Given the description of an element on the screen output the (x, y) to click on. 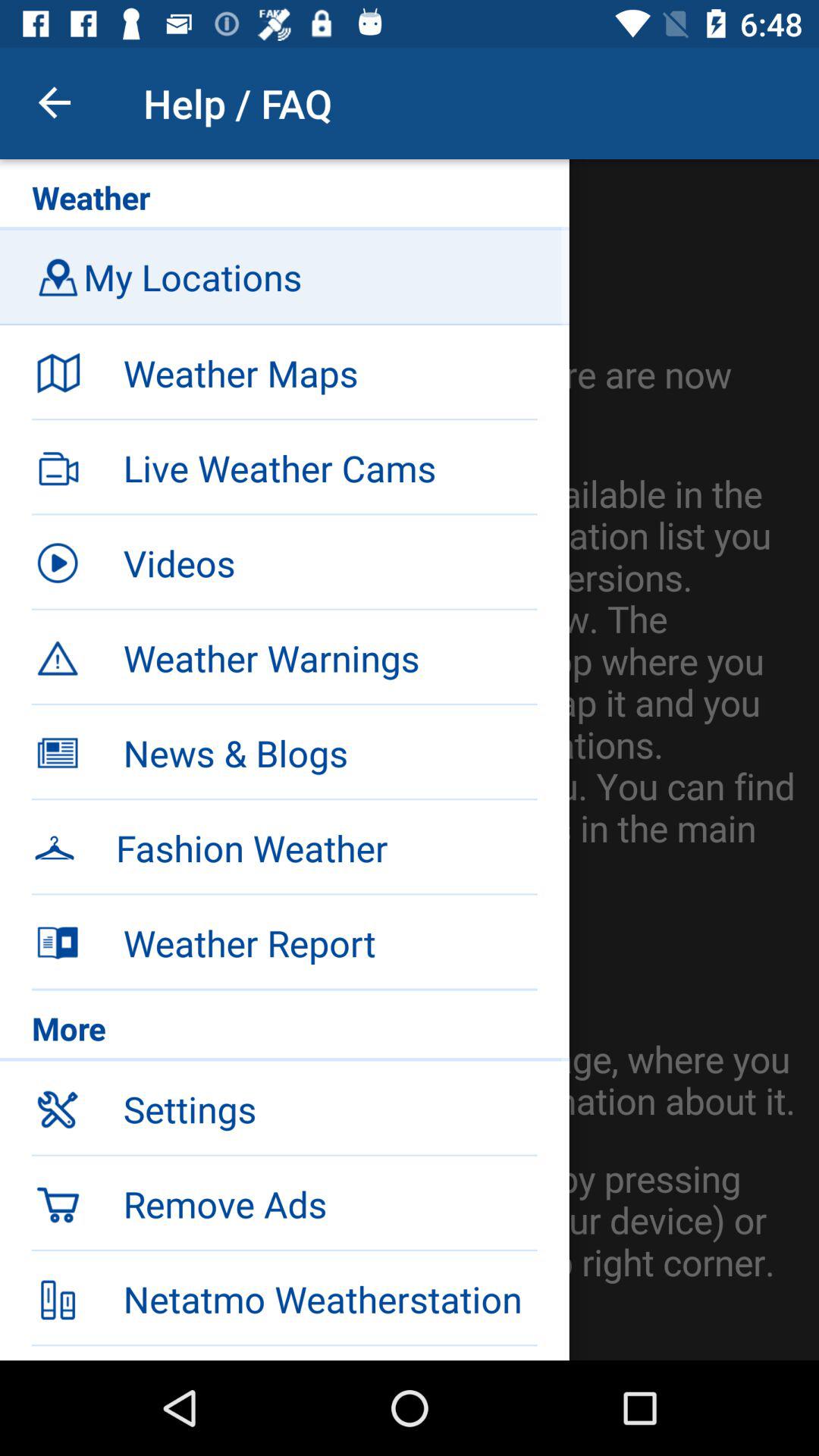
turn off netatmo weatherstation (330, 1298)
